Given the description of an element on the screen output the (x, y) to click on. 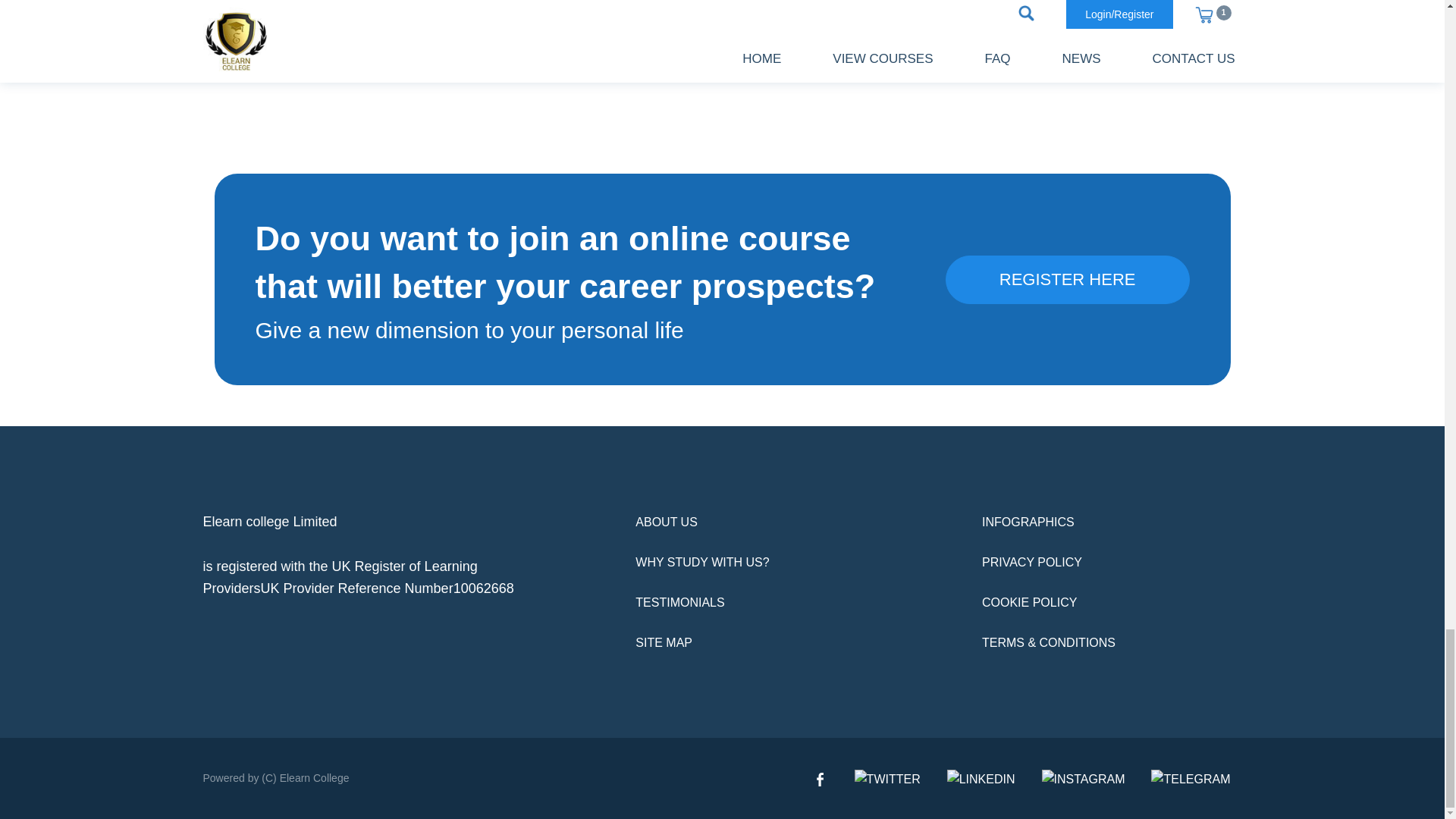
Follow us on Facebook (820, 778)
Follow us on Instagram (1083, 778)
Follow us on Telegram (1190, 778)
Follow us on Linkedin (980, 778)
Follow us on Twitter (887, 778)
